Given the description of an element on the screen output the (x, y) to click on. 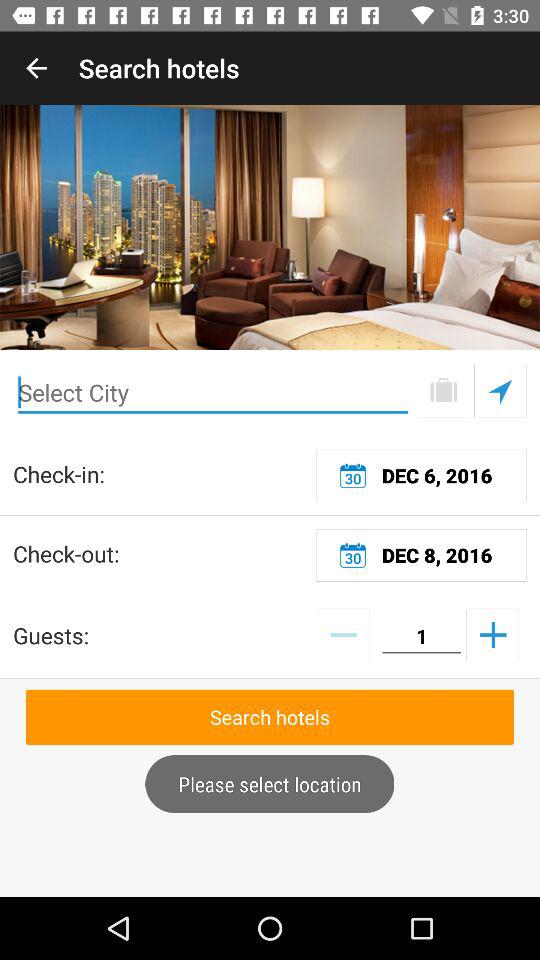
book (443, 390)
